Given the description of an element on the screen output the (x, y) to click on. 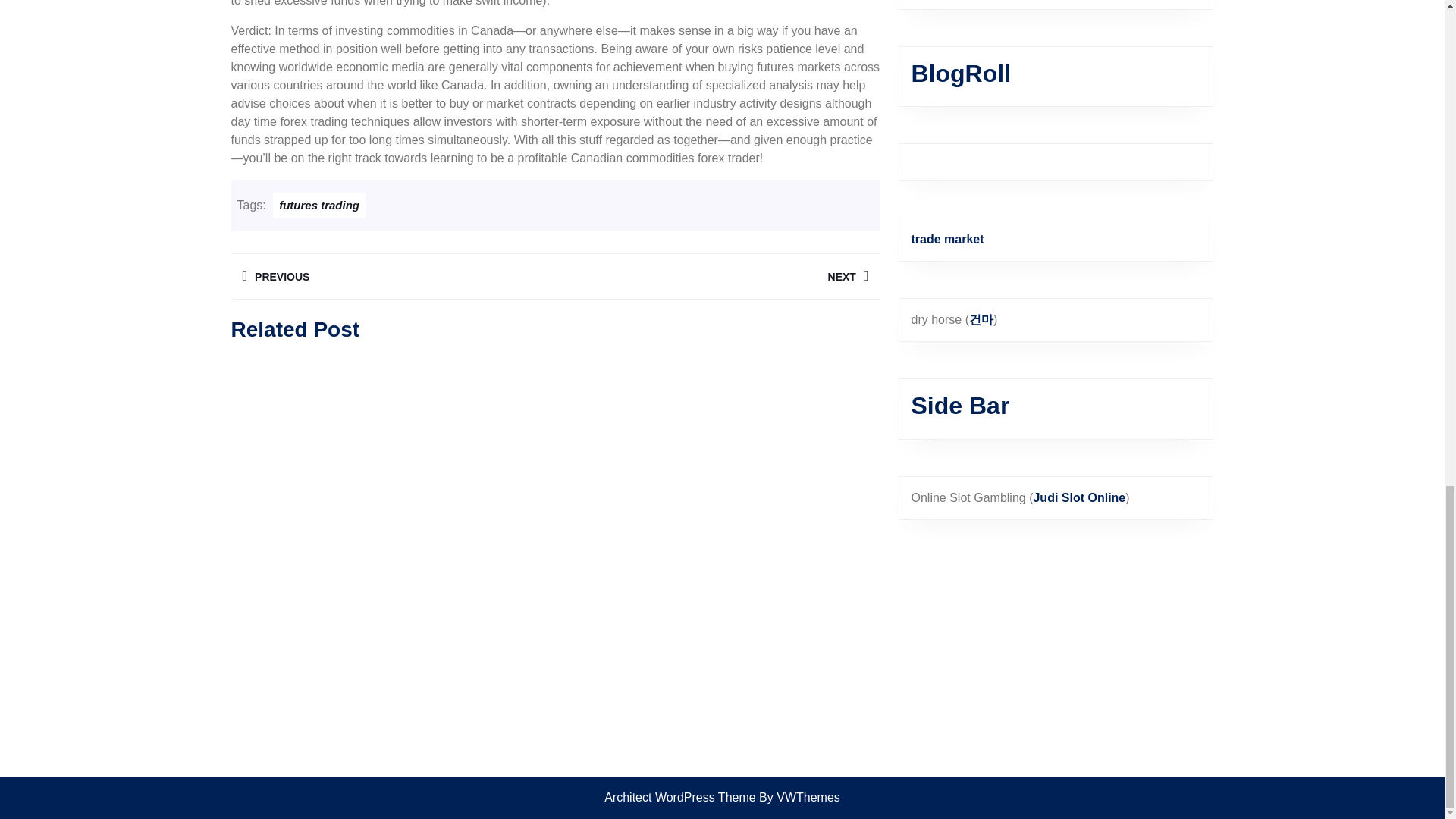
futures trading (392, 276)
